Given the description of an element on the screen output the (x, y) to click on. 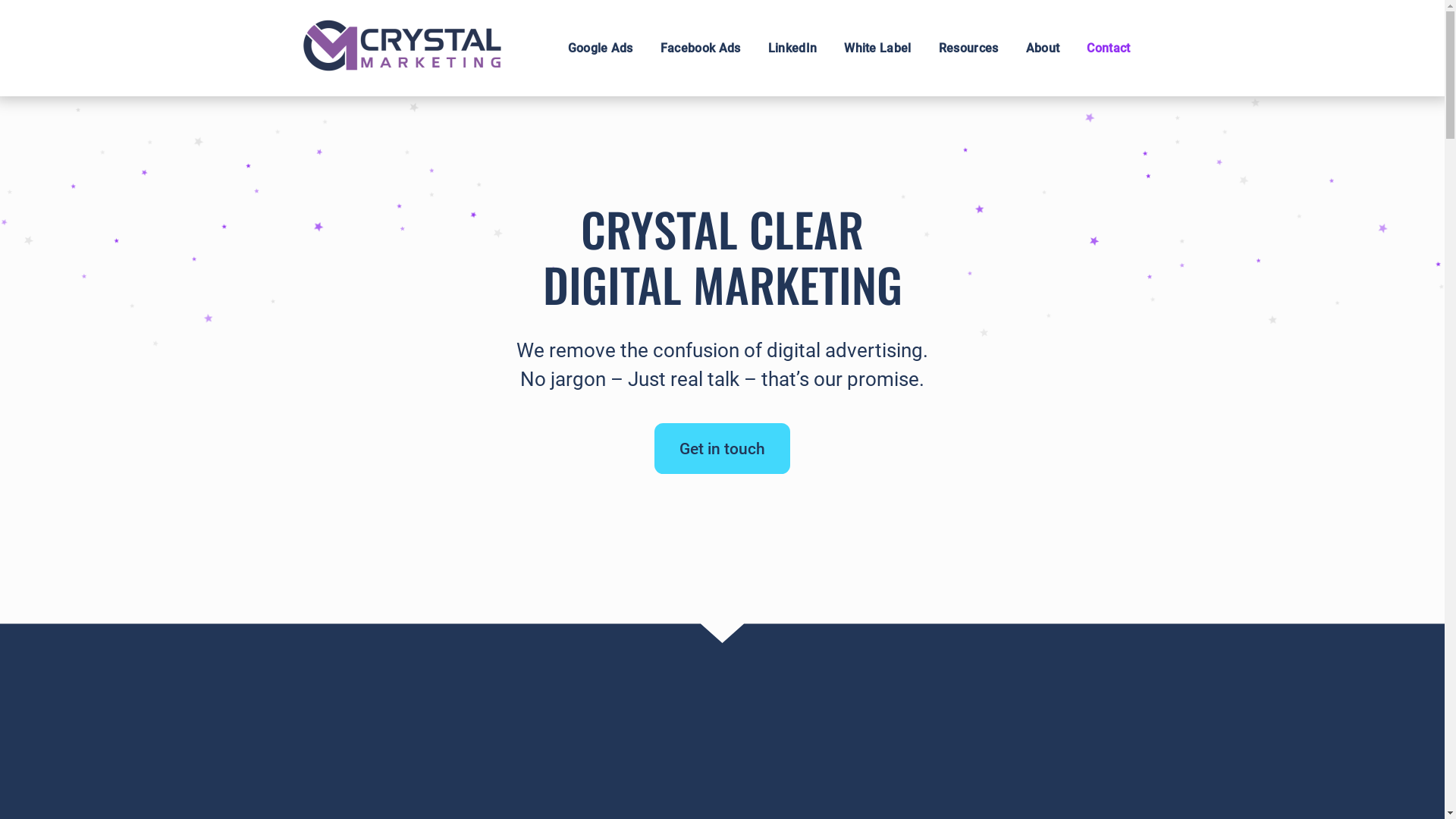
About Element type: text (1042, 48)
Get in touch Element type: text (722, 448)
LinkedIn Element type: text (792, 48)
White Label Element type: text (877, 48)
Contact Element type: text (1108, 48)
Google Ads Element type: text (600, 48)
Resources Element type: text (968, 48)
Facebook Ads Element type: text (700, 48)
